Given the description of an element on the screen output the (x, y) to click on. 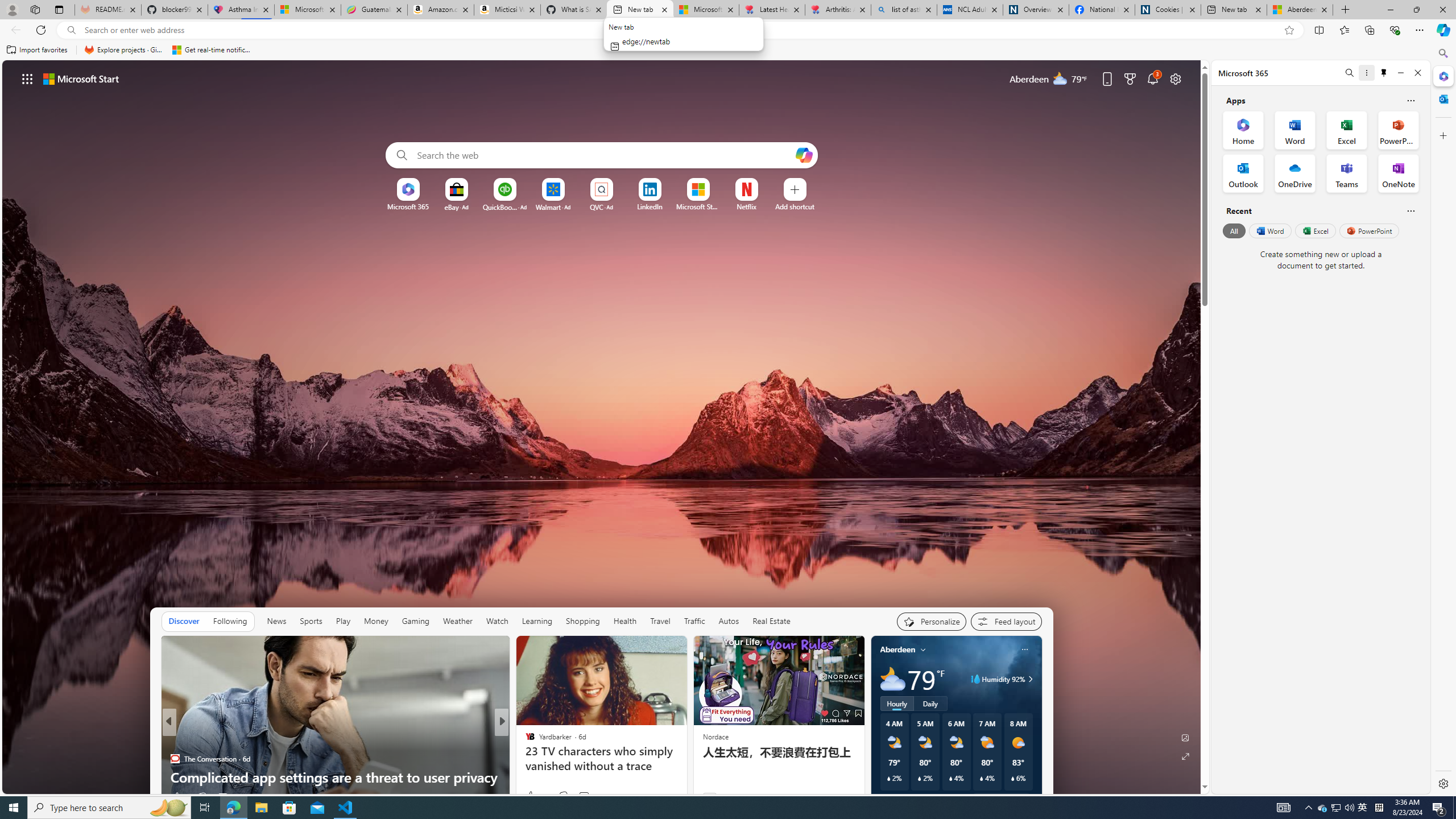
View comments 16 Comment (582, 796)
Travel (660, 621)
Weather (457, 621)
Money (375, 621)
Start the conversation (576, 797)
PowerPoint (1369, 230)
Gaming (415, 621)
Play (342, 621)
LinkedIn (649, 206)
View comments 2 Comment (580, 796)
